Given the description of an element on the screen output the (x, y) to click on. 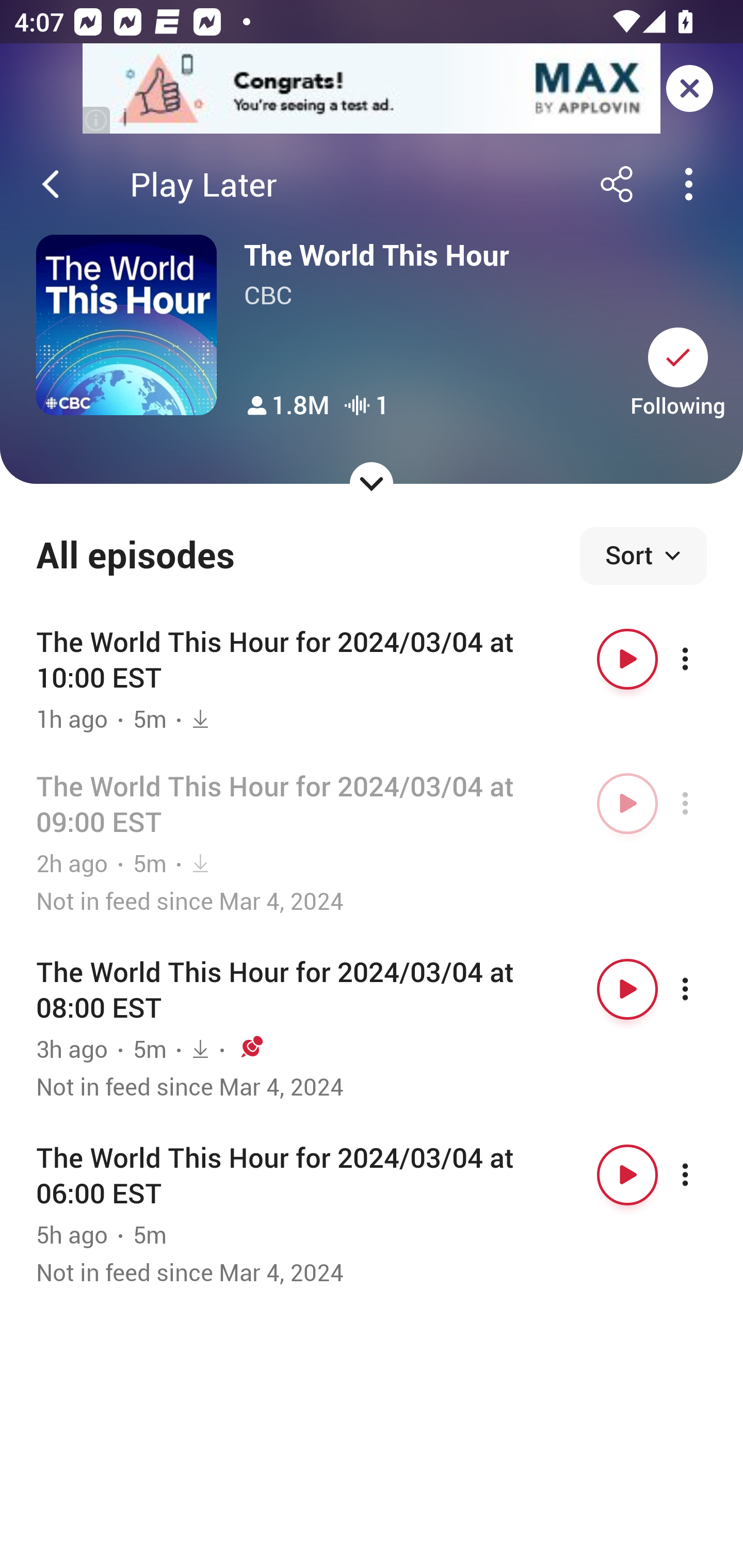
app-monetization (371, 88)
(i) (96, 119)
Back (50, 184)
Unsubscribe button (677, 357)
Sort episodes Sort (643, 555)
Play button (627, 659)
More options (703, 659)
Play button (627, 803)
More options (703, 803)
Play button (627, 989)
More options (703, 989)
Play button (627, 1175)
More options (703, 1175)
